Given the description of an element on the screen output the (x, y) to click on. 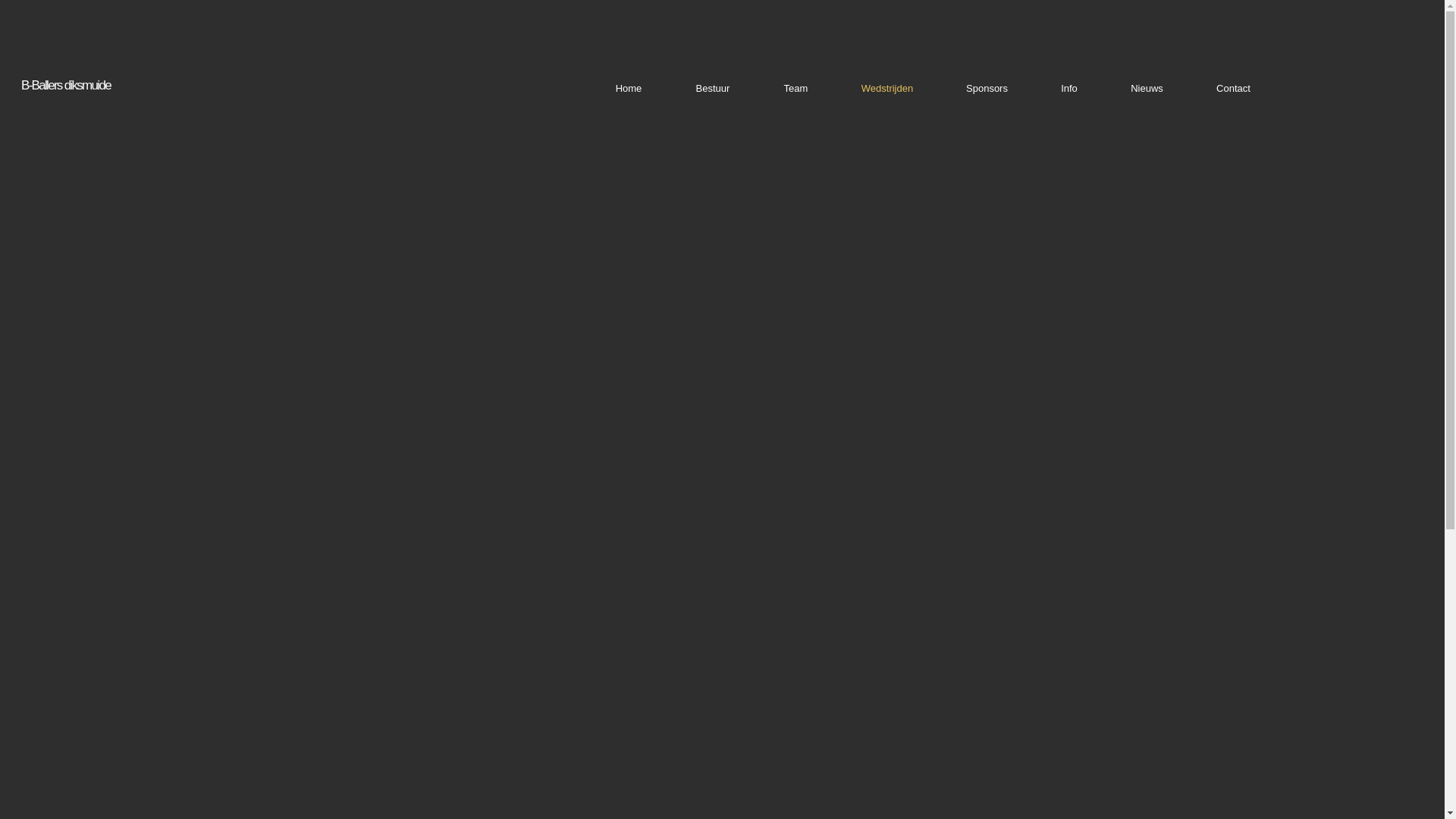
Sponsors Element type: text (986, 88)
Wedstrijden Element type: text (886, 88)
Info Element type: text (1069, 88)
Team Element type: text (795, 88)
Nieuws Element type: text (1146, 88)
Home Element type: text (628, 88)
Bestuur Element type: text (712, 88)
Contact Element type: text (1233, 88)
B-Ballers diksmuide Element type: text (65, 85)
